Given the description of an element on the screen output the (x, y) to click on. 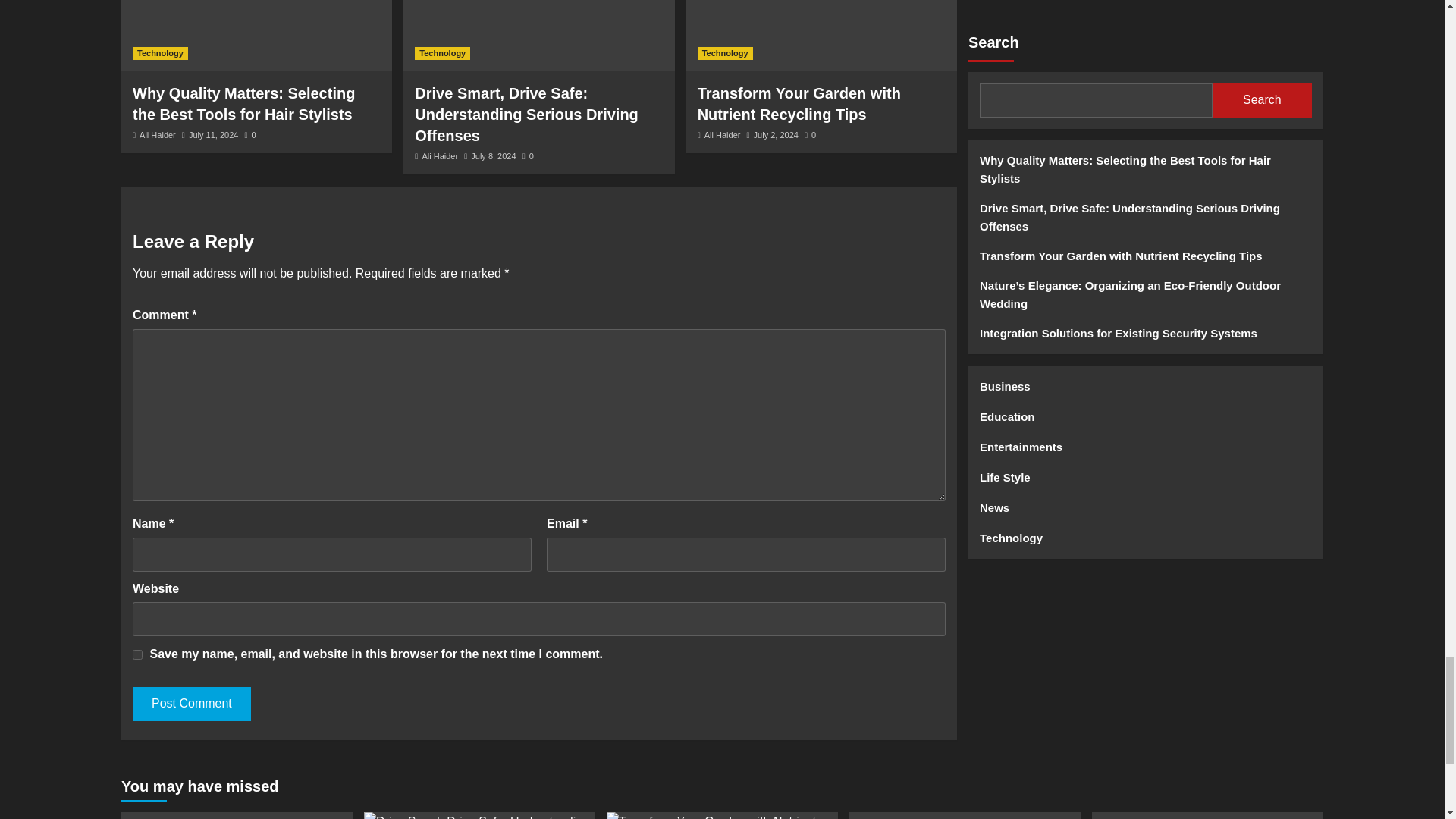
yes (137, 655)
Post Comment (191, 704)
